Given the description of an element on the screen output the (x, y) to click on. 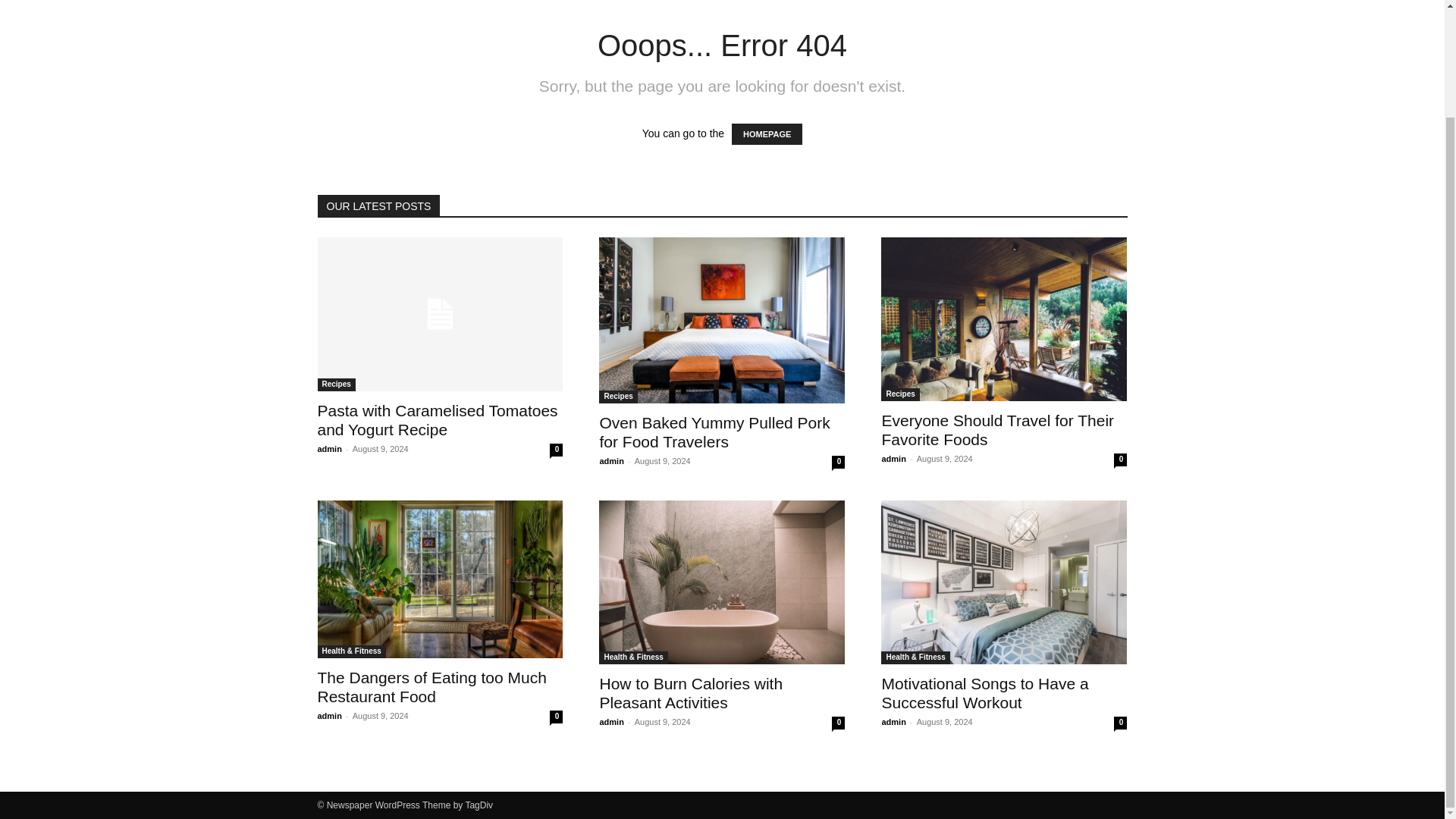
The Dangers of Eating too Much Restaurant Food (431, 687)
The Dangers of Eating too Much Restaurant Food (431, 687)
admin (892, 458)
admin (328, 448)
0 (556, 716)
Search (1085, 51)
Everyone Should Travel for Their Favorite Foods (1003, 319)
0 (837, 461)
How to Burn Calories with Pleasant Activities (721, 582)
Pasta with Caramelised Tomatoes and Yogurt Recipe (437, 420)
